Given the description of an element on the screen output the (x, y) to click on. 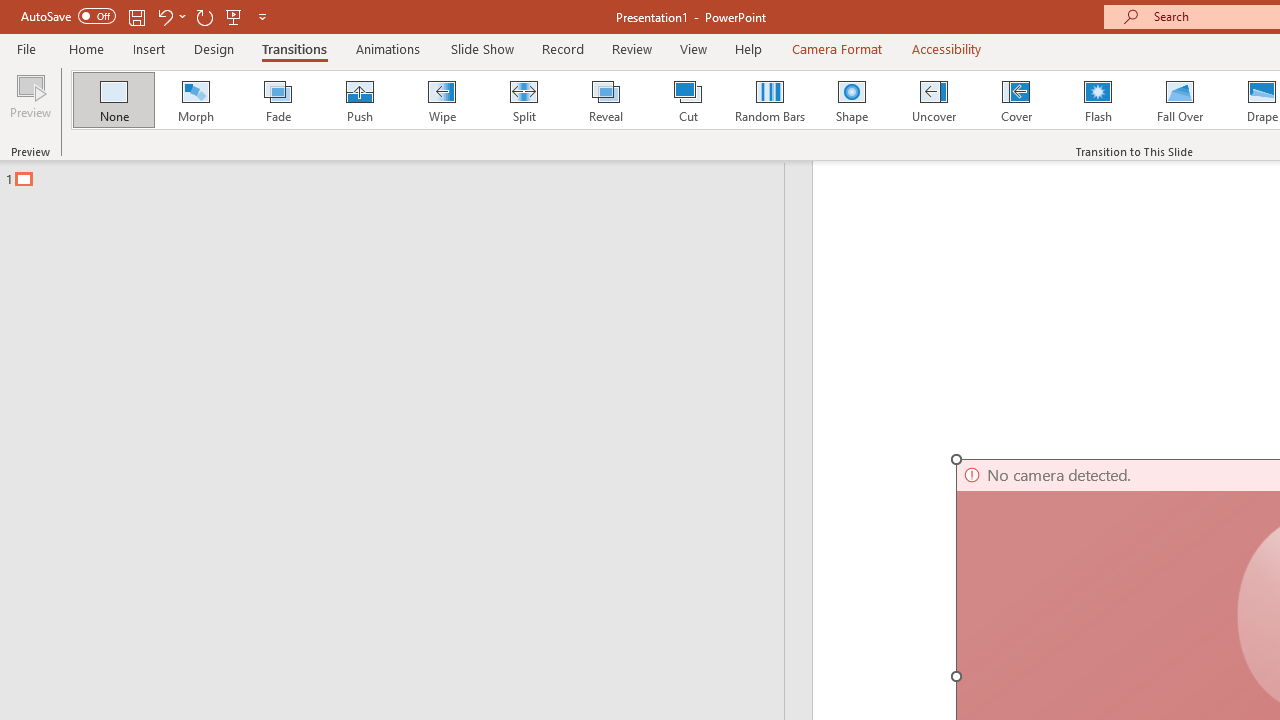
AutoSave (68, 16)
None (113, 100)
Flash (1098, 100)
Push (359, 100)
Save (136, 15)
Transitions (294, 48)
Outline (401, 174)
Random Bars (770, 100)
Redo (204, 15)
Record (562, 48)
Undo (164, 15)
